Given the description of an element on the screen output the (x, y) to click on. 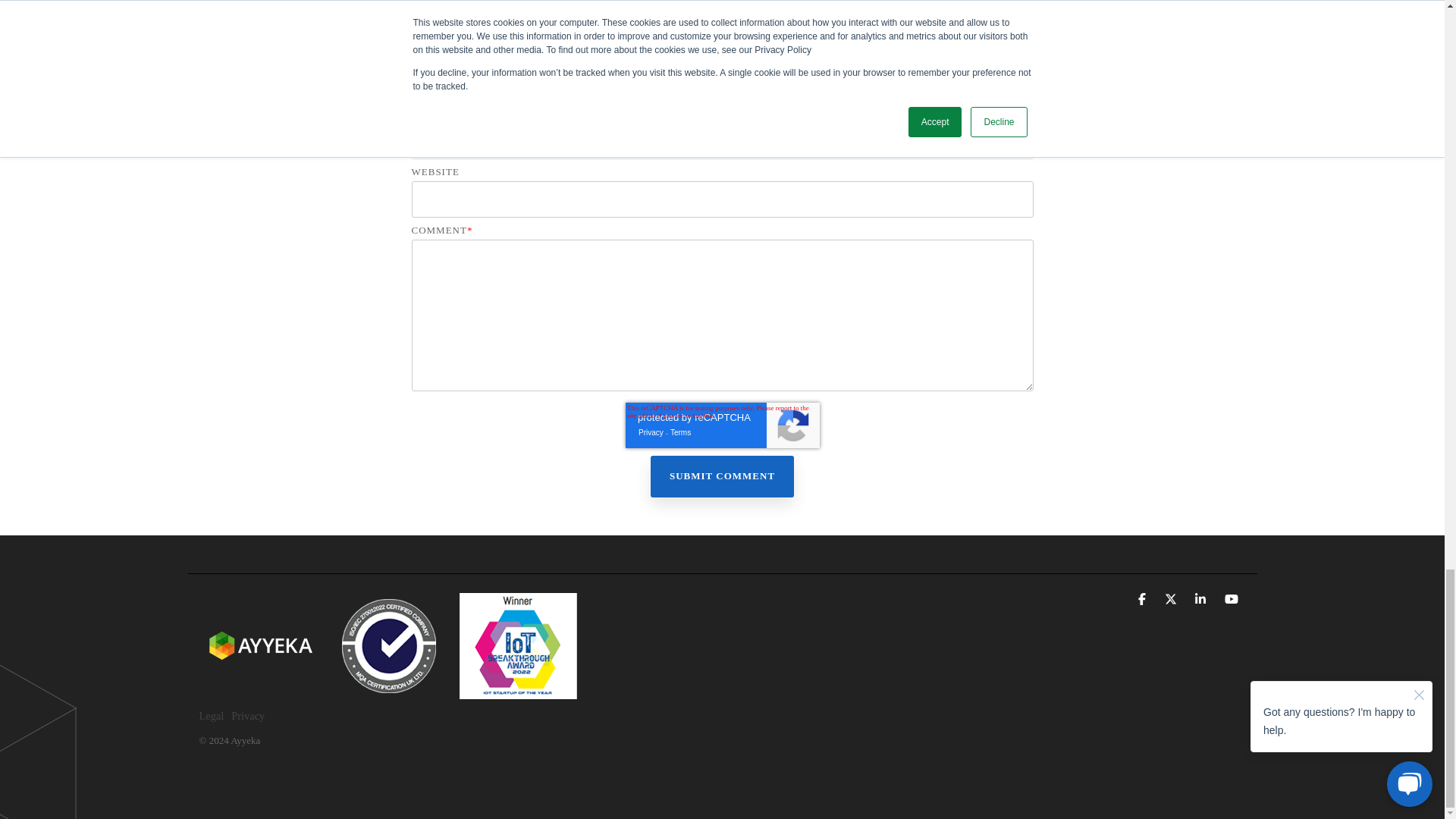
reCAPTCHA (721, 424)
Submit Comment (721, 476)
